Given the description of an element on the screen output the (x, y) to click on. 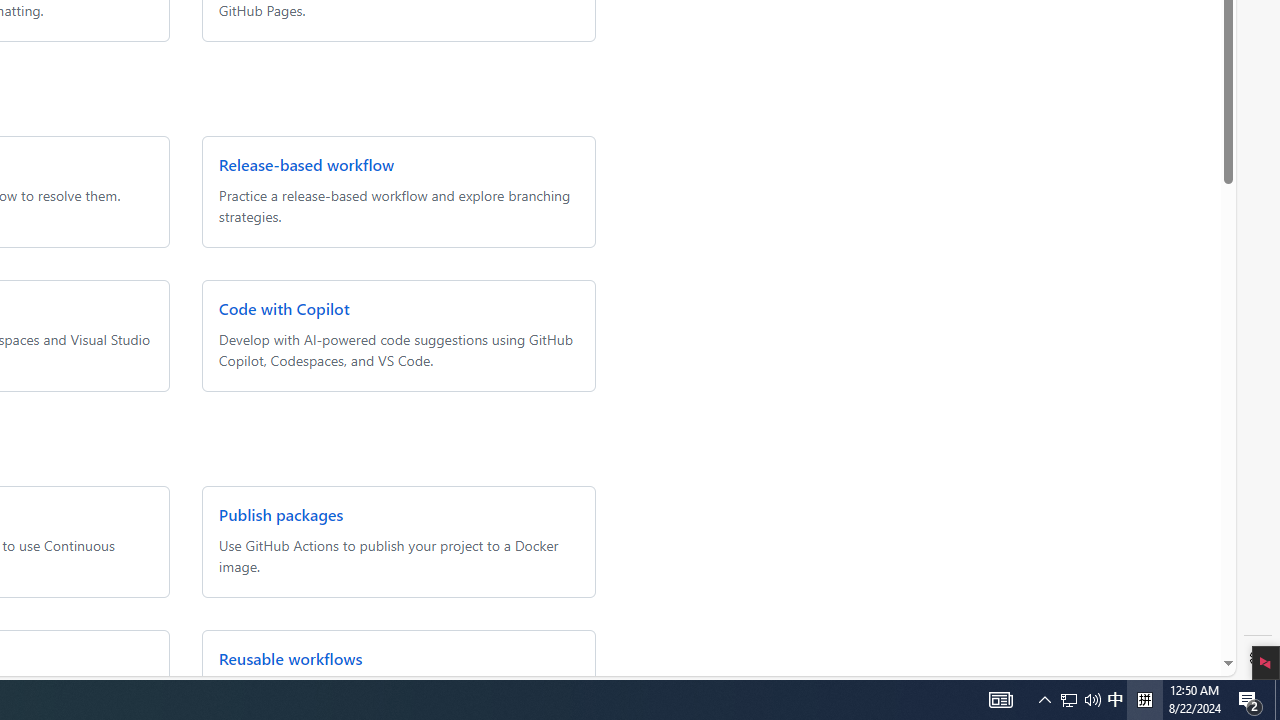
Code with Copilot (283, 308)
Release-based workflow (306, 164)
Publish packages (280, 513)
Reusable workflows (290, 658)
